Given the description of an element on the screen output the (x, y) to click on. 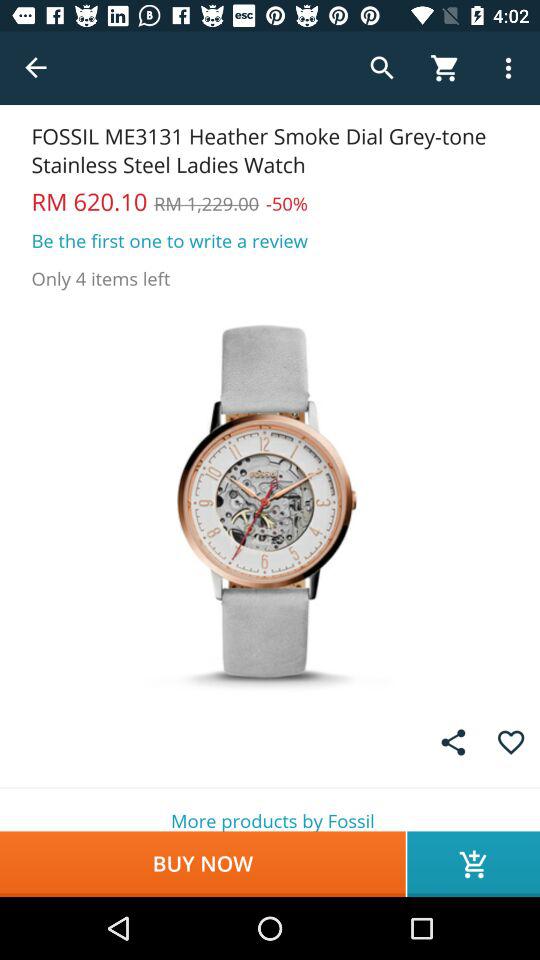
flip to buy now icon (202, 863)
